Given the description of an element on the screen output the (x, y) to click on. 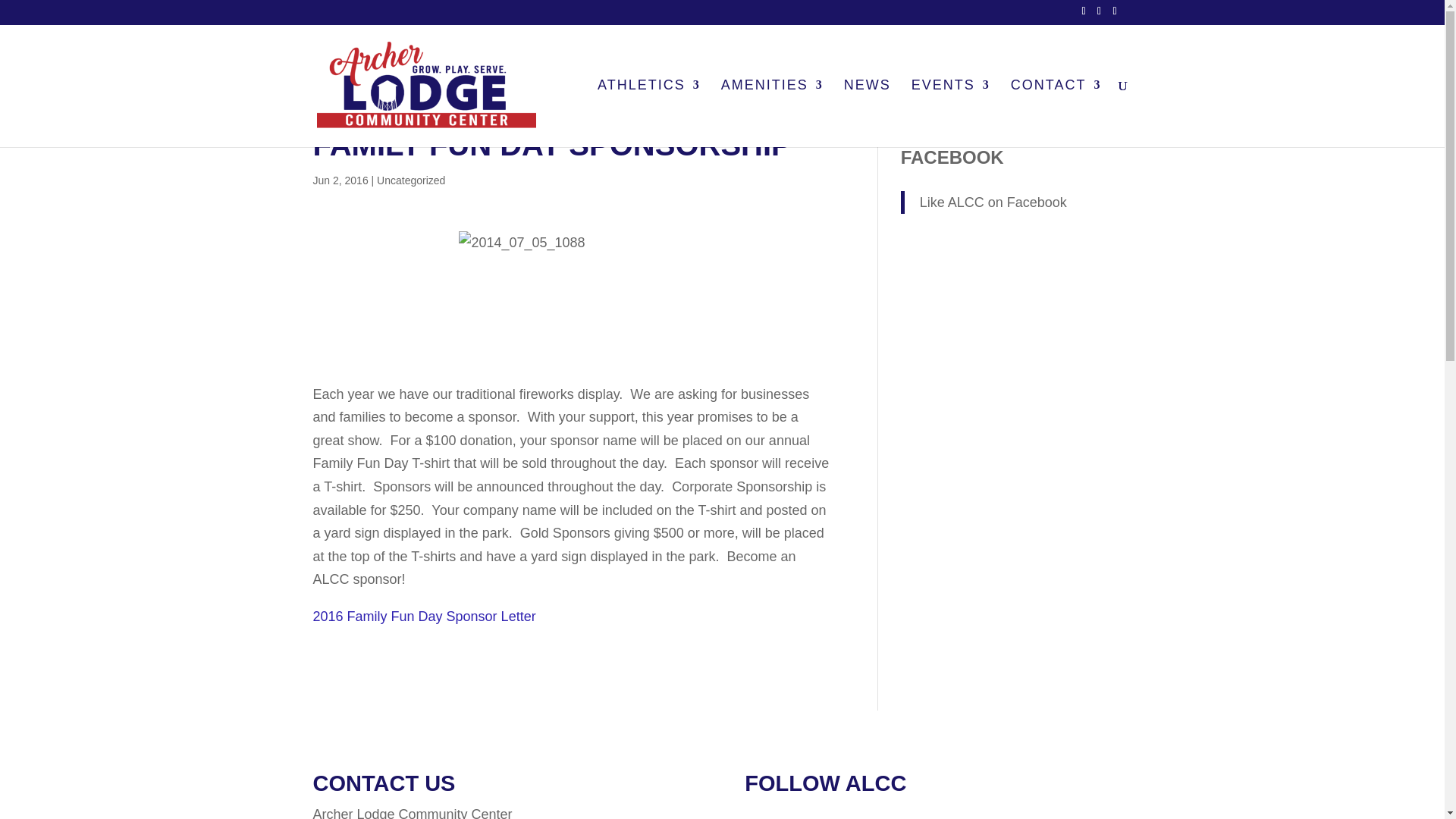
EVENTS (950, 113)
ATHLETICS (648, 113)
AMENITIES (772, 113)
LIKE ALCC ON FACEBOOK (965, 147)
CONTACT (1056, 113)
2016 Family Fun Day Sponsor Letter (424, 616)
Like ALCC on Facebook (993, 201)
Uncategorized (411, 180)
